Given the description of an element on the screen output the (x, y) to click on. 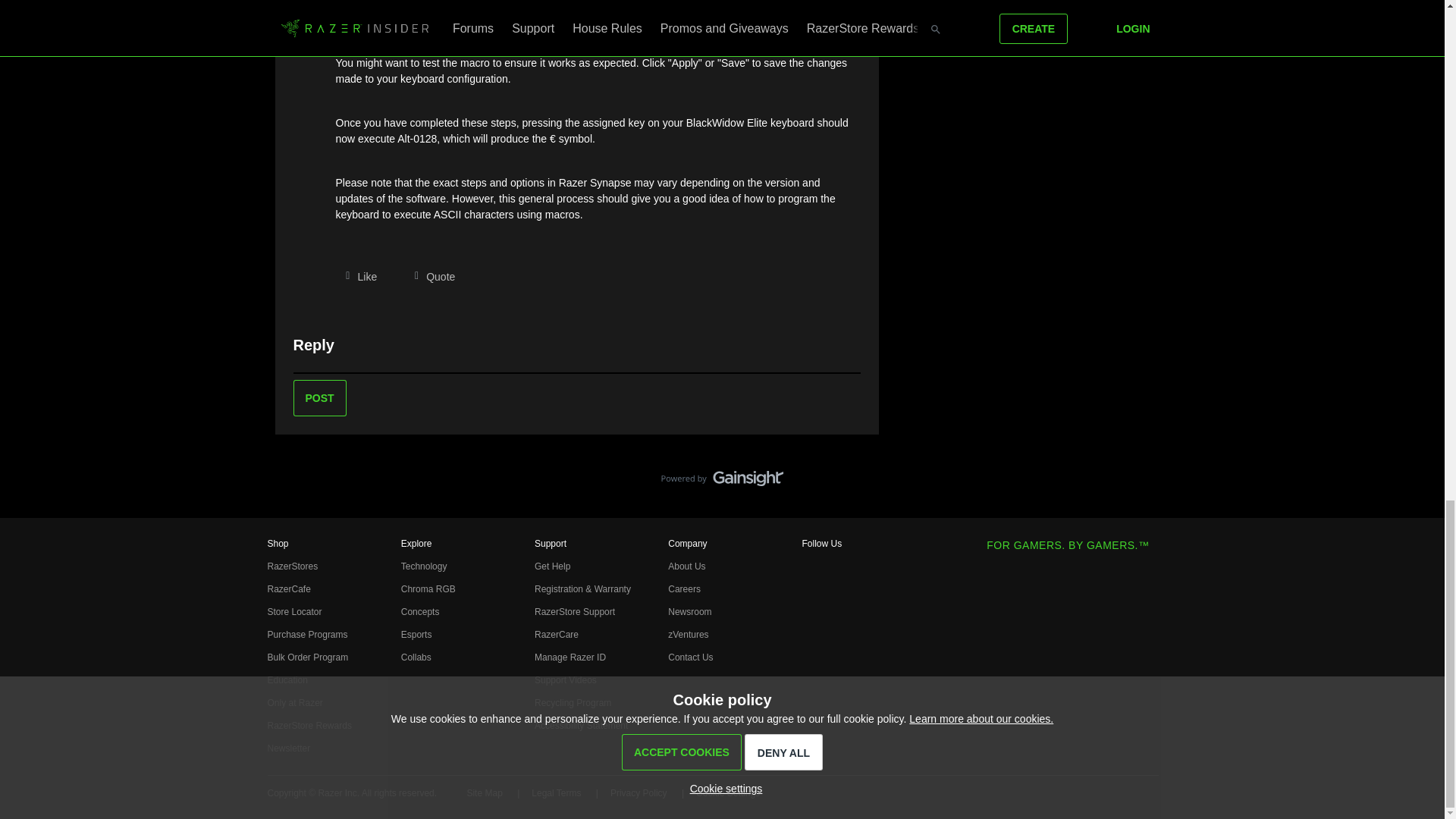
Facebook (811, 568)
Threads (811, 613)
Youtube (811, 658)
twitch (811, 702)
Instagram (811, 591)
Visit Gainsight.com (722, 481)
Discord (811, 725)
TikTok (811, 681)
X (811, 636)
